Given the description of an element on the screen output the (x, y) to click on. 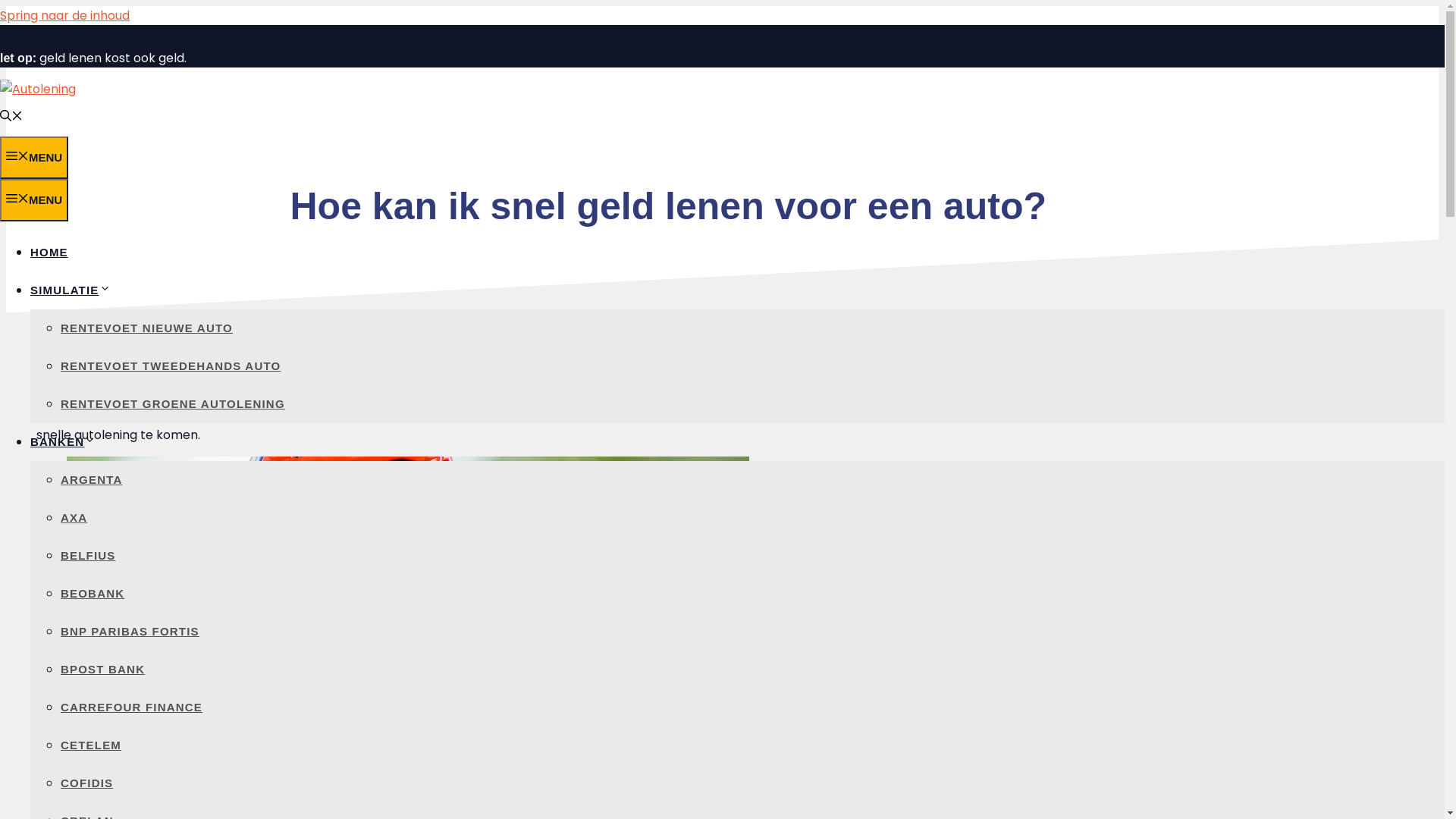
BELFIUS Element type: text (88, 555)
AXA Element type: text (73, 517)
RENTEVOET GROENE AUTOLENING Element type: text (172, 403)
COFIDIS Element type: text (86, 782)
ARGENTA Element type: text (91, 479)
BEOBANK Element type: text (92, 592)
RENTEVOET NIEUWE AUTO Element type: text (146, 327)
HOME Element type: text (49, 251)
Spring naar de inhoud Element type: text (64, 15)
RENTEVOET TWEEDEHANDS AUTO Element type: text (170, 365)
CARREFOUR FINANCE Element type: text (131, 706)
BNP PARIBAS FORTIS Element type: text (129, 630)
CETELEM Element type: text (90, 744)
BANKEN Element type: text (62, 441)
BPOST BANK Element type: text (102, 668)
MENU Element type: text (34, 199)
SIMULATIE Element type: text (70, 289)
MENU Element type: text (34, 157)
